Given the description of an element on the screen output the (x, y) to click on. 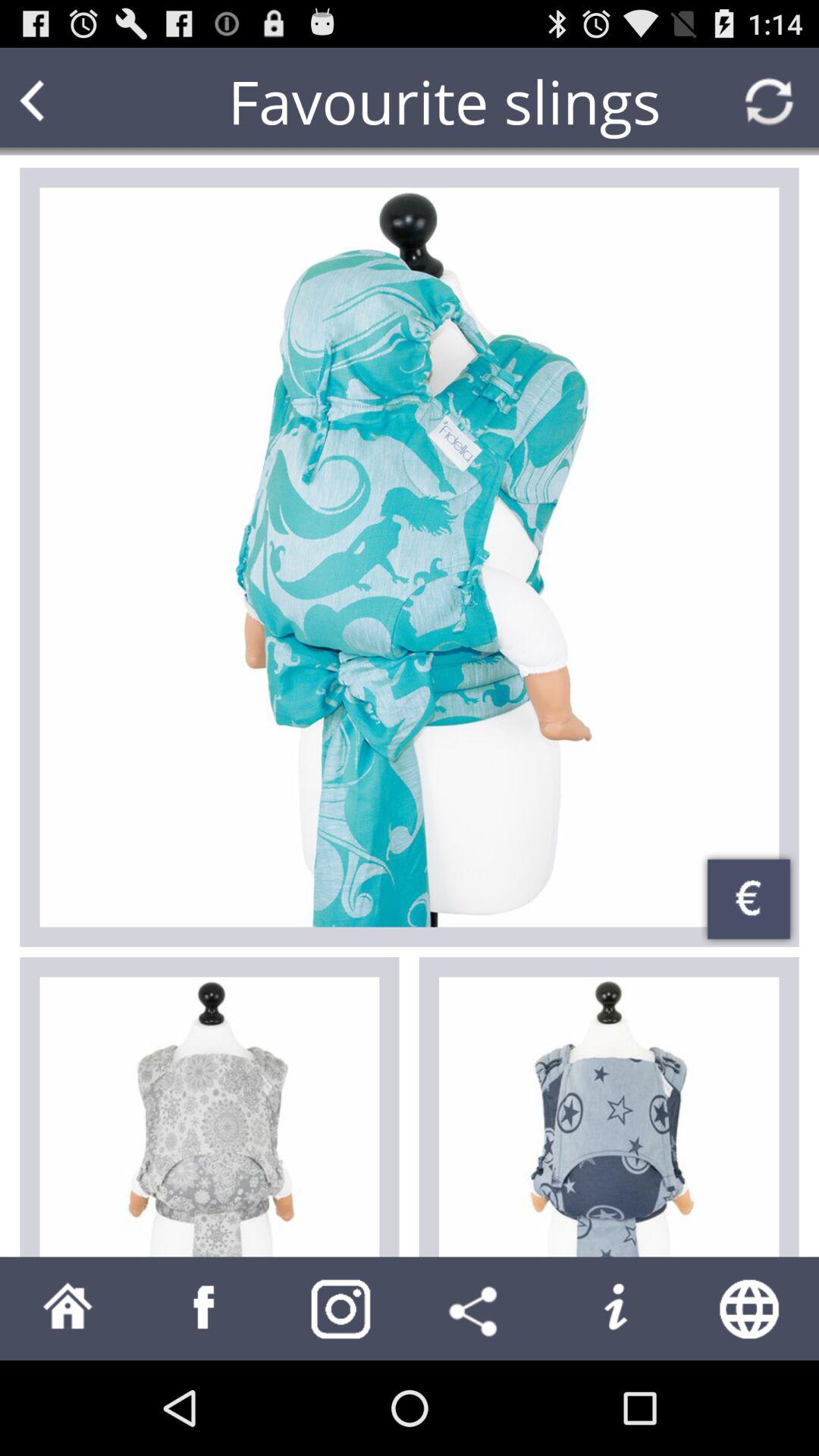
access the internet/web browser (750, 1308)
